Given the description of an element on the screen output the (x, y) to click on. 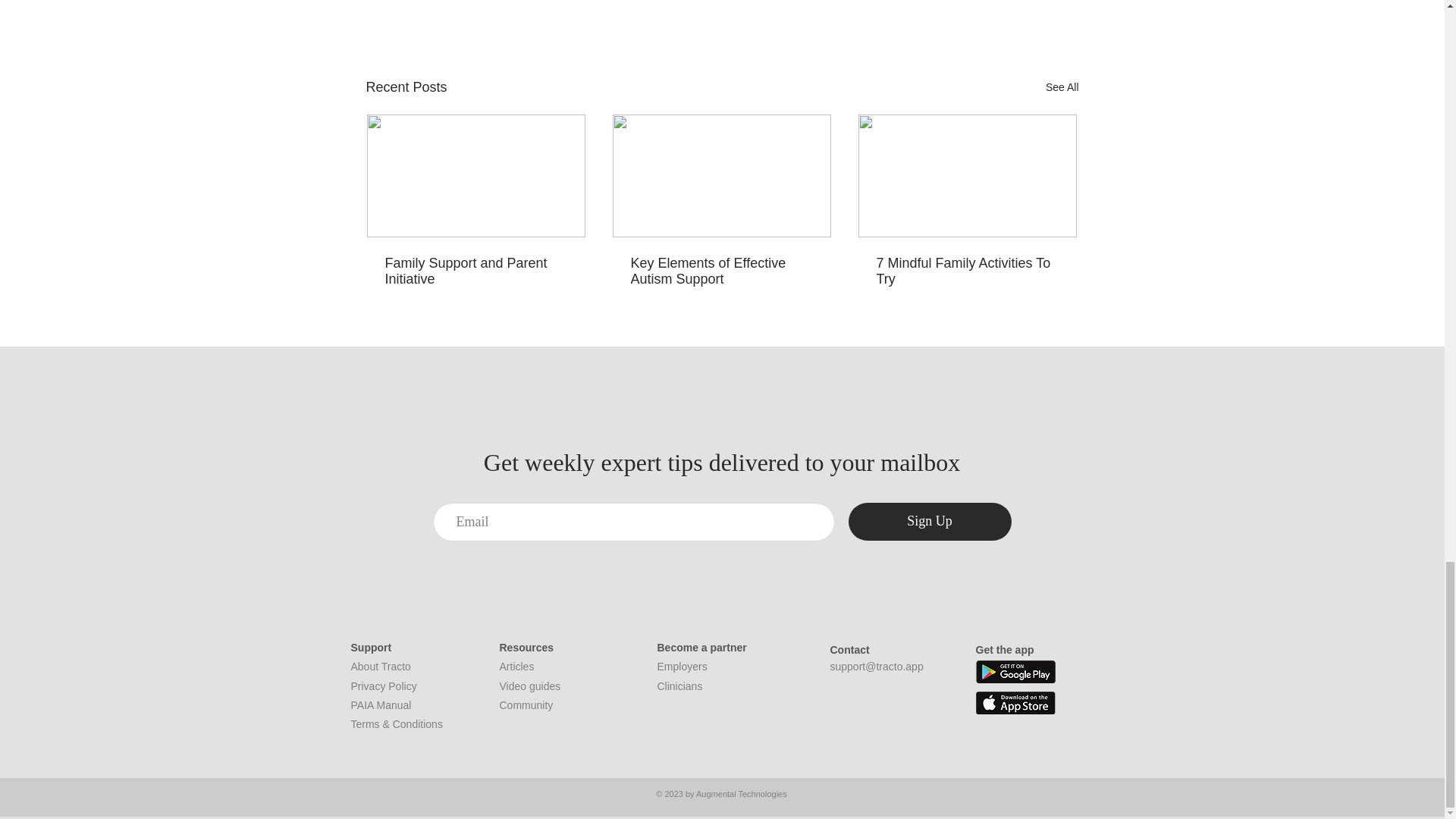
guides (544, 686)
Clinicians (678, 686)
See All (1061, 87)
Sign Up (928, 521)
Community (526, 705)
Employers (681, 666)
Articles (516, 666)
About Tracto (380, 666)
Key Elements of Effective Autism Support (721, 271)
7 Mindful Family Activities To Try (967, 271)
